Given the description of an element on the screen output the (x, y) to click on. 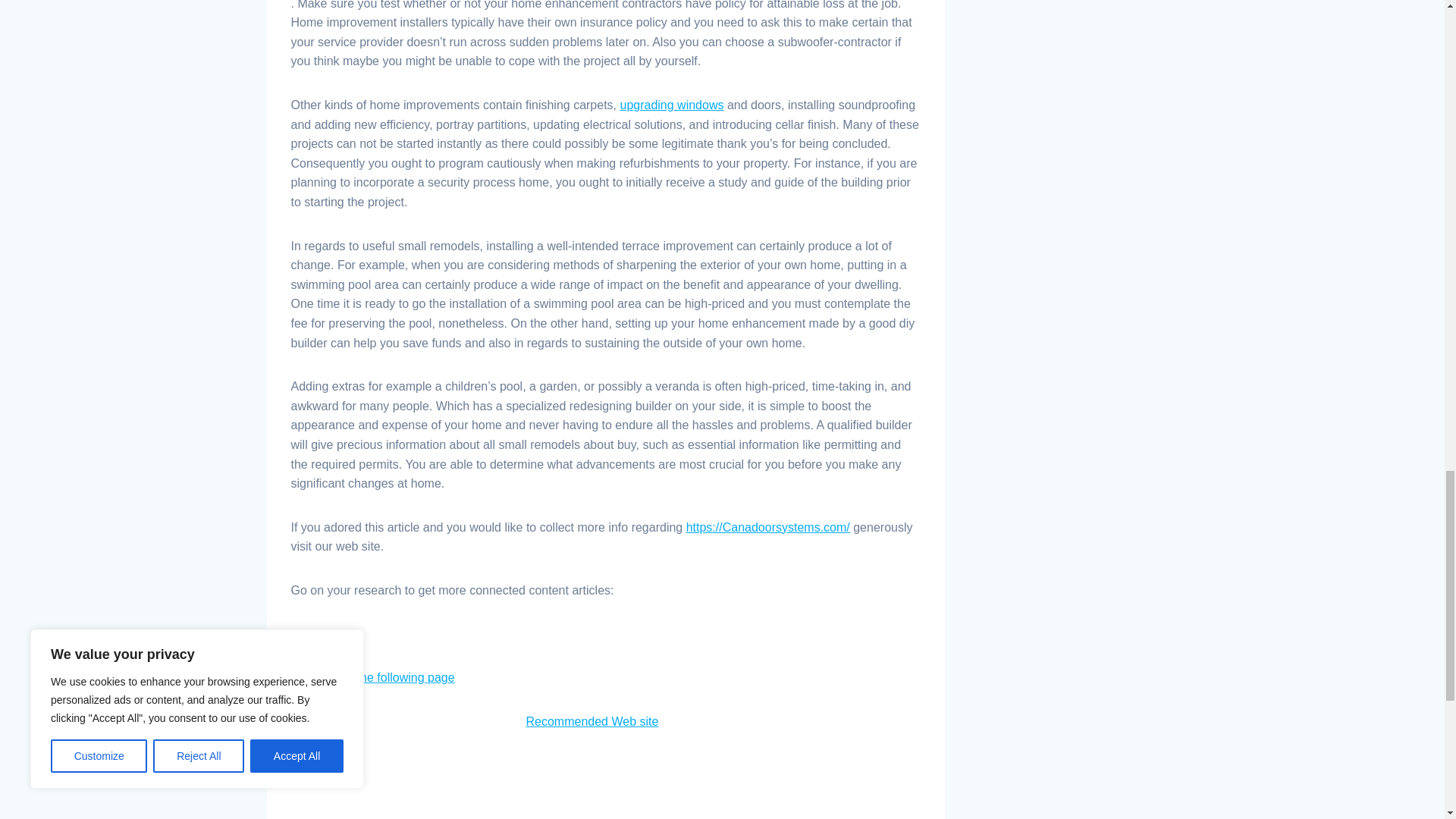
upgrading windows (671, 104)
please click the following page (372, 676)
Our Site (313, 634)
Recommended Web site (592, 721)
